Given the description of an element on the screen output the (x, y) to click on. 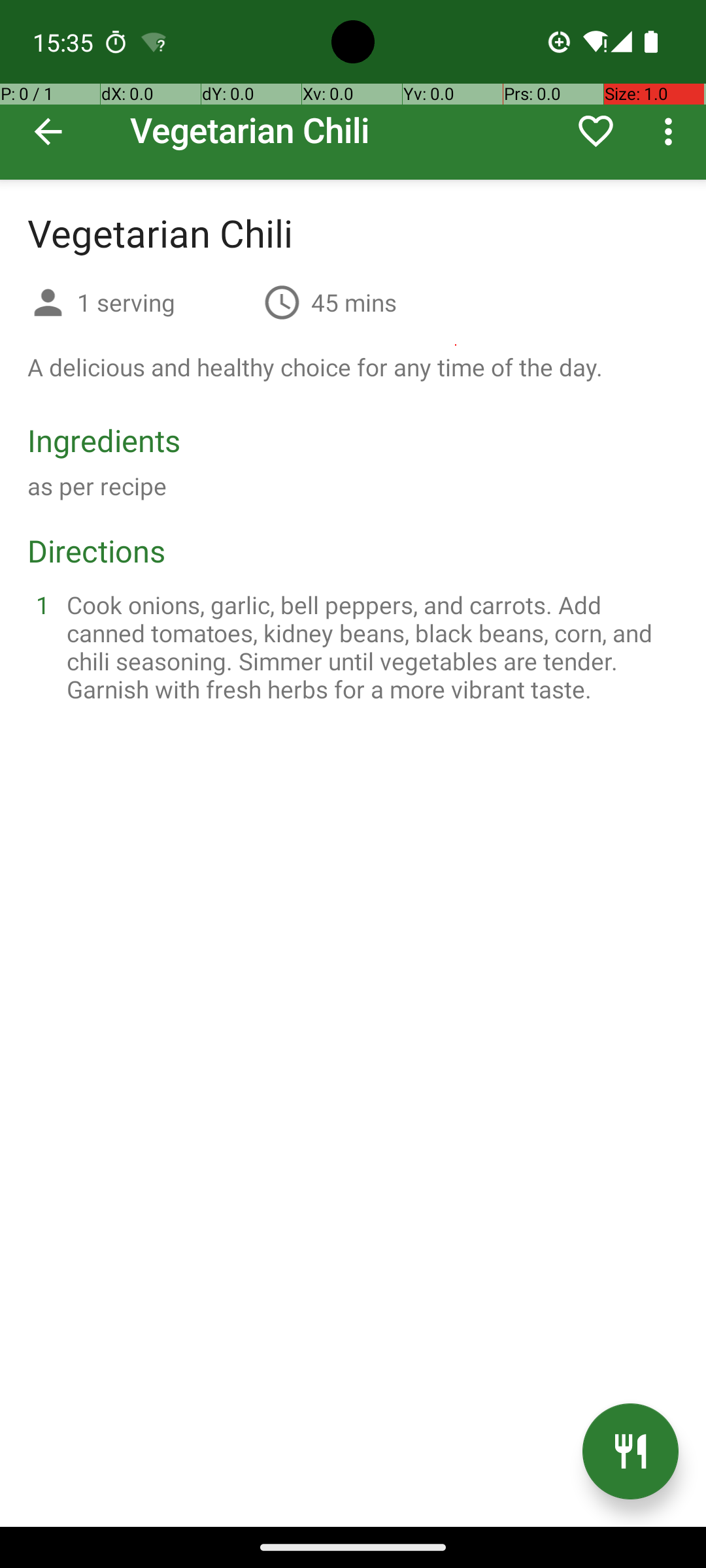
Vegetarian Chili Element type: android.widget.FrameLayout (353, 89)
Cook onions, garlic, bell peppers, and carrots. Add canned tomatoes, kidney beans, black beans, corn, and chili seasoning. Simmer until vegetables are tender. Garnish with fresh herbs for a more vibrant taste. Element type: android.widget.TextView (368, 646)
